Given the description of an element on the screen output the (x, y) to click on. 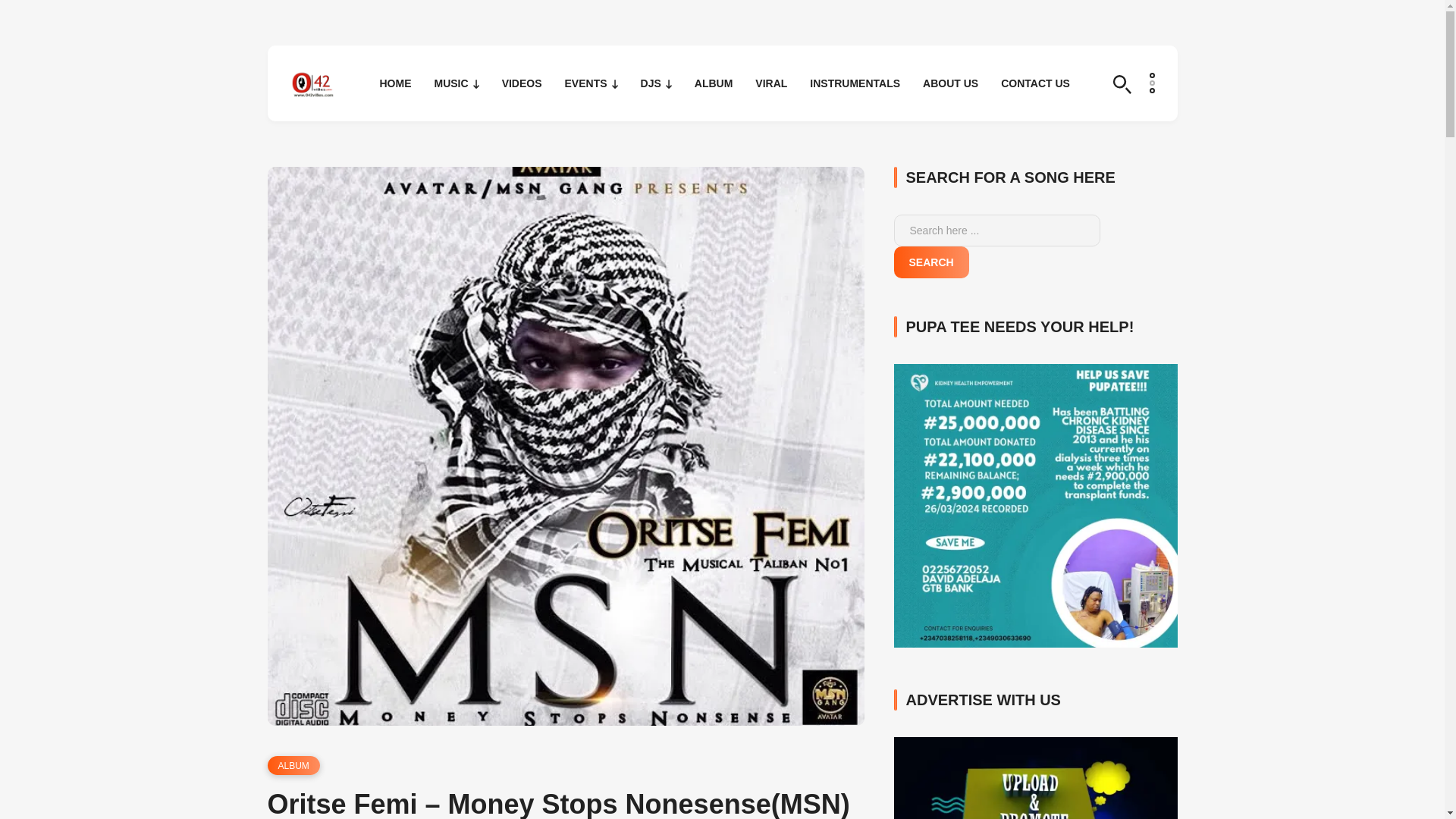
ALBUM (292, 764)
Search (930, 262)
Search (1121, 84)
Search here ... (996, 230)
Search (17, 7)
CONTACT US (1035, 83)
INSTRUMENTALS (854, 83)
Sidebar (1151, 82)
